Given the description of an element on the screen output the (x, y) to click on. 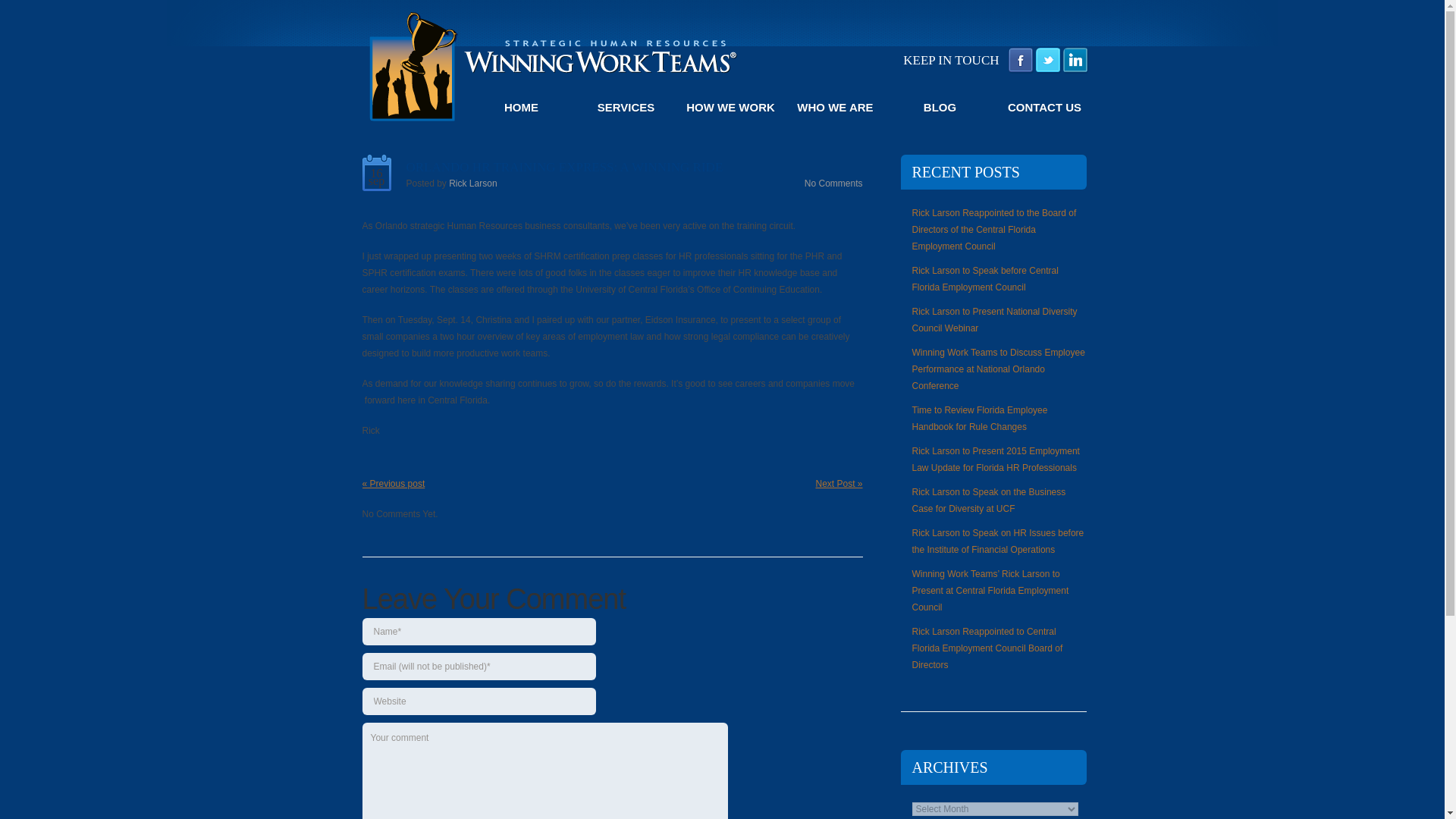
HOW WE WORK (731, 107)
facebook (1021, 58)
HOME (521, 107)
Website (478, 700)
SERVICES (626, 107)
Time to Review Florida Employee Handbook for Rule Changes (978, 418)
BLOG (939, 107)
